Given the description of an element on the screen output the (x, y) to click on. 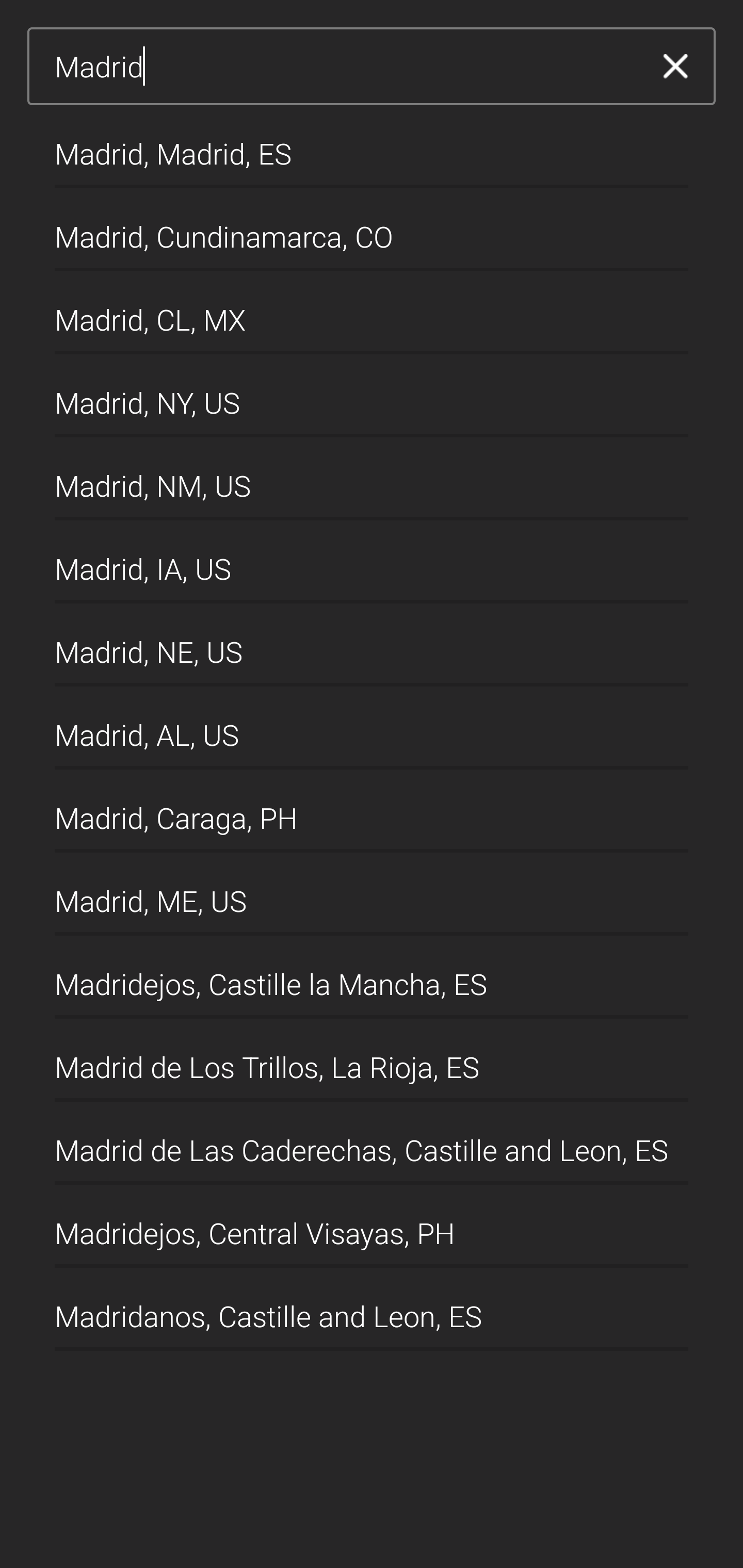
Madrid (345, 66)
Madrid, Madrid, ES (371, 146)
Madrid, Cundinamarca, CO (371, 229)
Madrid, CL, MX (371, 312)
Madrid, NY, US (371, 395)
Madrid, NM, US (371, 478)
Madrid, IA, US (371, 561)
Madrid, NE, US (371, 644)
Madrid, AL, US (371, 727)
Madrid, Caraga, PH (371, 810)
Madrid, ME, US (371, 894)
Madridejos, Castille la Mancha, ES (371, 977)
Madrid de Los Trillos, La Rioja, ES (371, 1060)
Madrid de Las Caderechas, Castille and Leon, ES (371, 1143)
Madridejos, Central Visayas, PH (371, 1226)
Madridanos, Castille and Leon, ES (371, 1309)
